Given the description of an element on the screen output the (x, y) to click on. 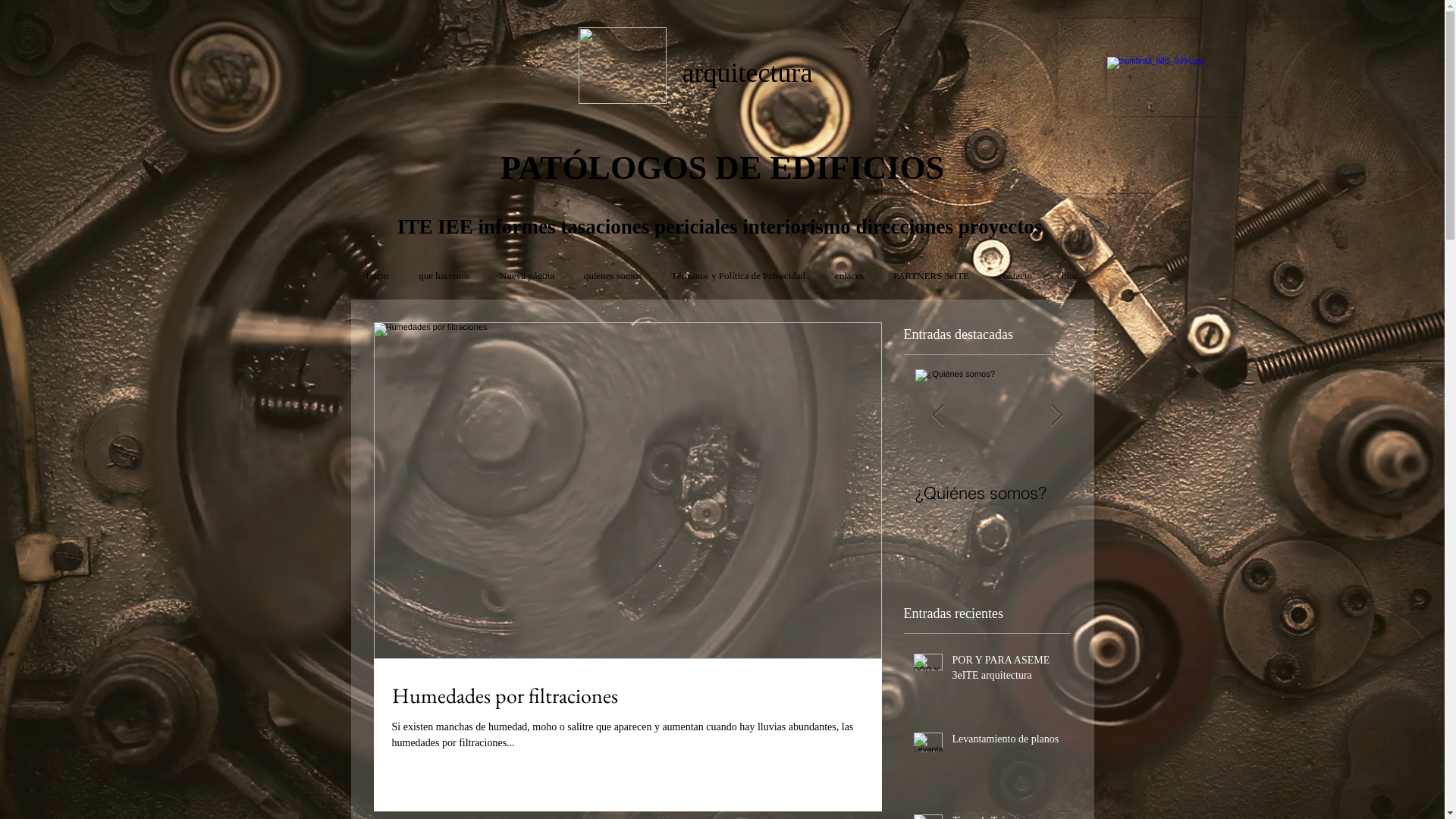
quienes somos Element type: text (611, 275)
     arquitectura Element type: text (730, 72)
que hacemos Element type: text (443, 275)
Levantamiento de planos Element type: text (1006, 742)
blog Element type: text (1069, 275)
enlaces Element type: text (849, 275)
inicio Element type: text (376, 275)
PARTNERS 3eITE Element type: text (930, 275)
contacto Element type: text (1015, 275)
Humedades por filtraciones Element type: text (626, 695)
Informes y Certificados Element type: text (663, 503)
Grietas en los edificios Element type: text (1331, 503)
POR Y PARA ASEME 3eITE arquitectura Element type: text (1006, 670)
